Given the description of an element on the screen output the (x, y) to click on. 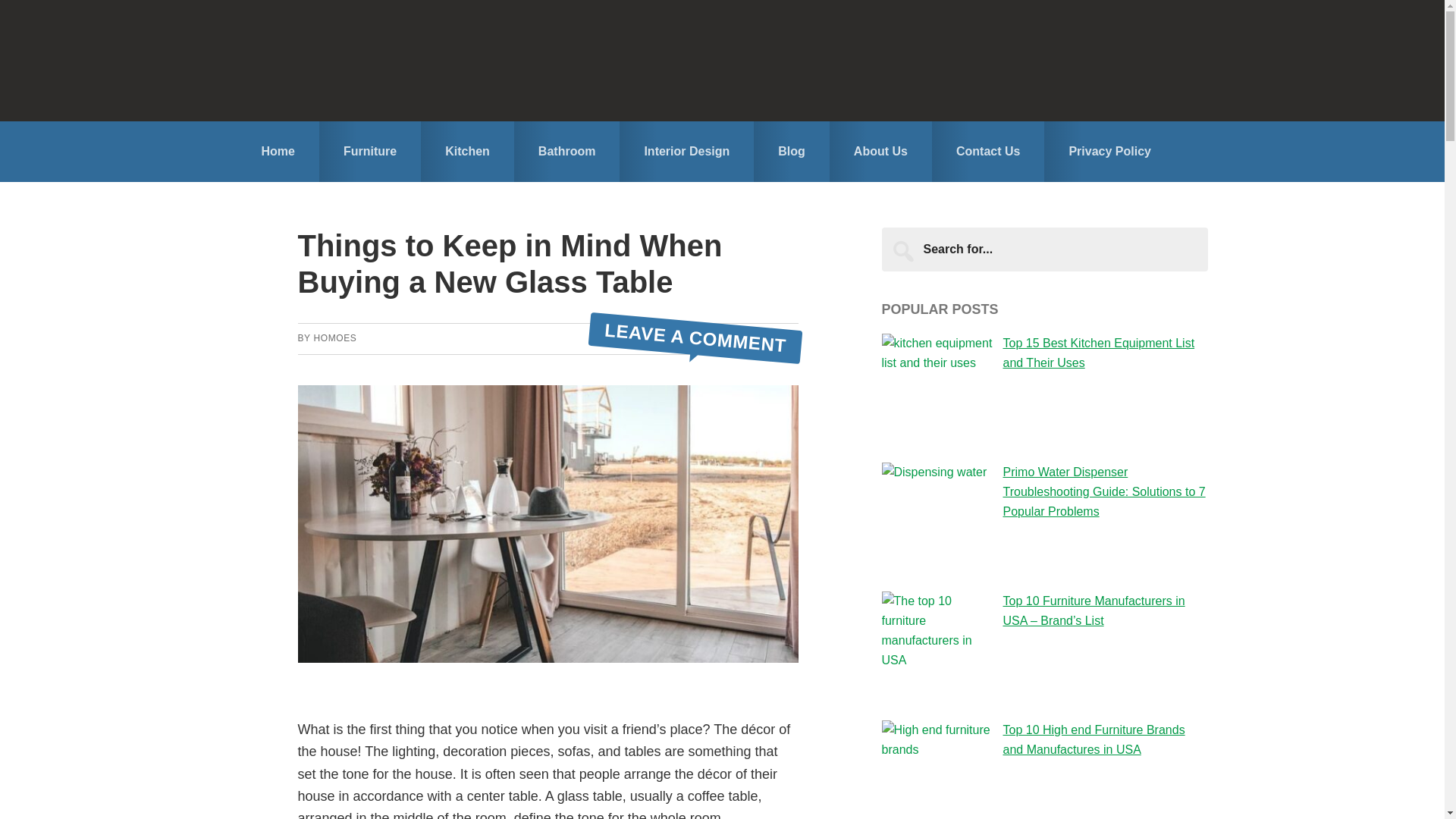
HOMOES (334, 337)
Homoq (722, 60)
Contact Us (987, 151)
About Us (880, 151)
Home (276, 151)
Kitchen (466, 151)
Interior Design (687, 151)
